Given the description of an element on the screen output the (x, y) to click on. 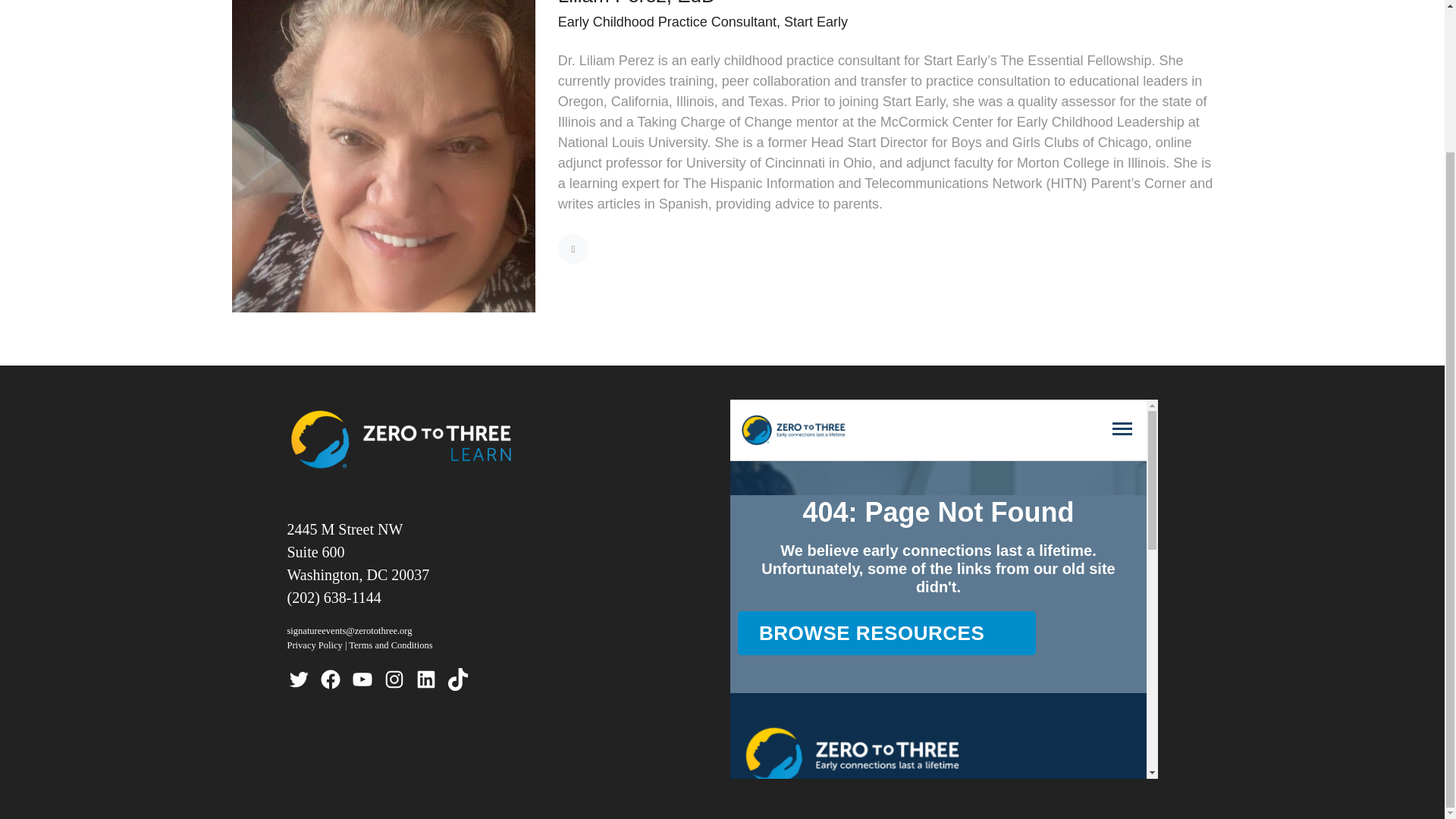
Facebook (329, 679)
Twitter (297, 679)
TikTok (456, 679)
YouTube (361, 679)
LinkedIn (424, 679)
Instagram (392, 679)
Privacy Policy (314, 644)
Terms and Conditions (390, 644)
